Given the description of an element on the screen output the (x, y) to click on. 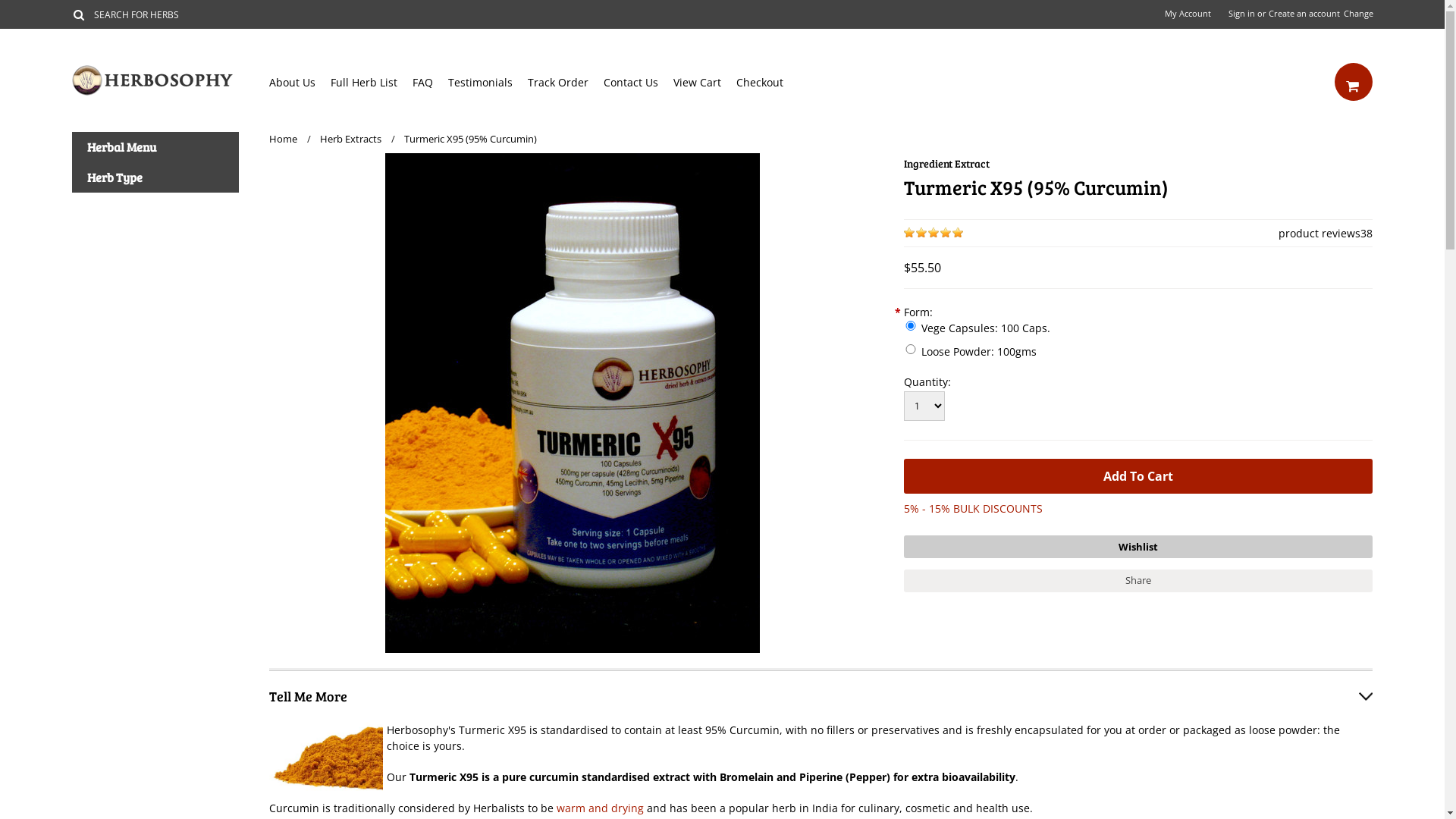
Ingredient Extract Element type: text (946, 163)
Search Element type: hover (78, 14)
  Element type: text (1353, 81)
Checkout Element type: text (767, 81)
Full Herb List Element type: text (371, 81)
View Cart Element type: text (704, 81)
38
product reviews Element type: text (1319, 232)
View Cart Element type: hover (1353, 81)
My Herbs List Element type: hover (1137, 546)
Herb Extracts Element type: text (357, 138)
View Cart Element type: hover (1352, 84)
Testimonials Element type: text (487, 81)
Track Order Element type: text (565, 81)
Home Element type: text (289, 138)
Sign in Element type: text (1241, 13)
Curcumin Capsules @ Herbosophy Element type: hover (572, 402)
FAQ Element type: text (430, 81)
5% - 15% BULK DISCOUNTS Element type: text (972, 508)
My Account Element type: text (1187, 13)
turmeric-root-powder-herbosophy-ra.jpeg Element type: hover (325, 758)
Add To Cart Element type: text (1137, 475)
warm and drying Element type: text (599, 807)
Change Element type: text (1357, 12)
Contact Us Element type: text (638, 81)
About Us Element type: text (299, 81)
Create an account Element type: text (1303, 13)
